Given the description of an element on the screen output the (x, y) to click on. 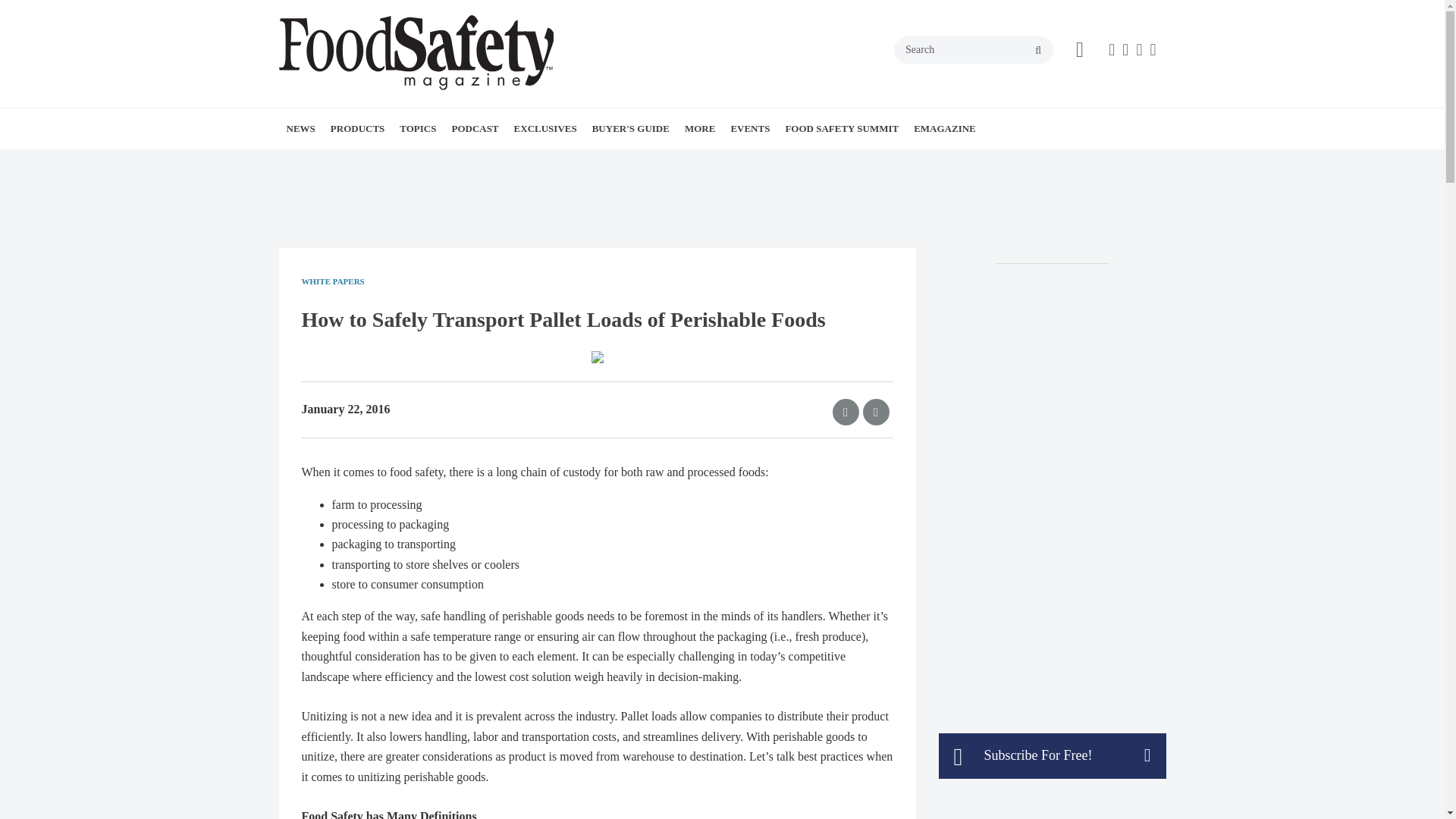
PODCAST (474, 128)
EBOOKS (600, 161)
PRODUCTS (358, 128)
PROCESS CONTROL (504, 161)
SPONSOR INSIGHTS (785, 161)
STORE (778, 161)
search (1037, 50)
WHITE PAPERS (380, 161)
TOPICS (417, 128)
SUPPLY CHAIN (517, 161)
